Given the description of an element on the screen output the (x, y) to click on. 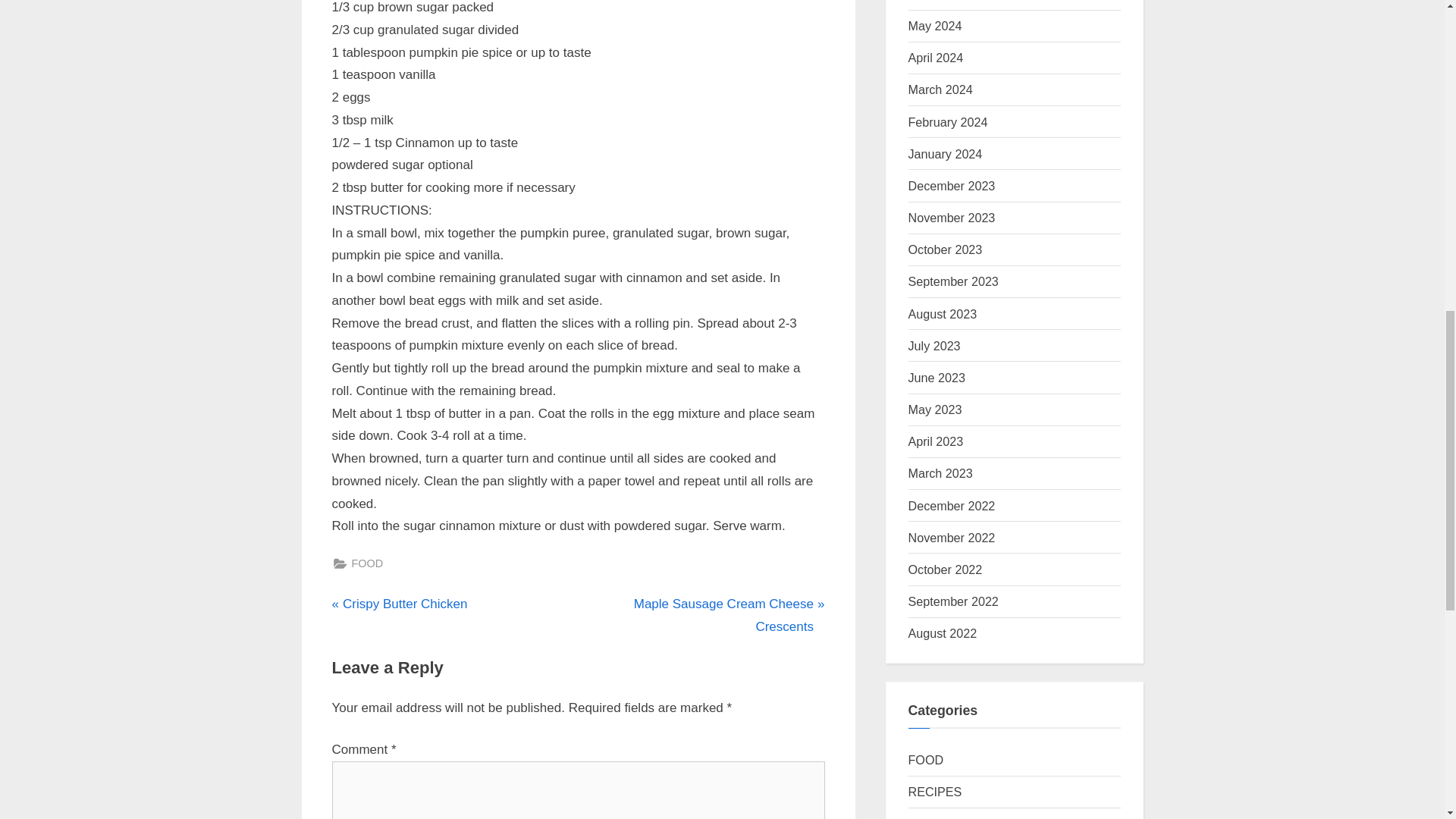
May 2024 (935, 25)
February 2024 (948, 121)
FOOD (368, 563)
August 2023 (399, 603)
January 2024 (942, 314)
July 2023 (945, 153)
November 2023 (934, 345)
December 2023 (704, 615)
June 2024 (951, 217)
June 2023 (951, 185)
September 2023 (936, 0)
April 2024 (936, 377)
March 2024 (953, 281)
